Given the description of an element on the screen output the (x, y) to click on. 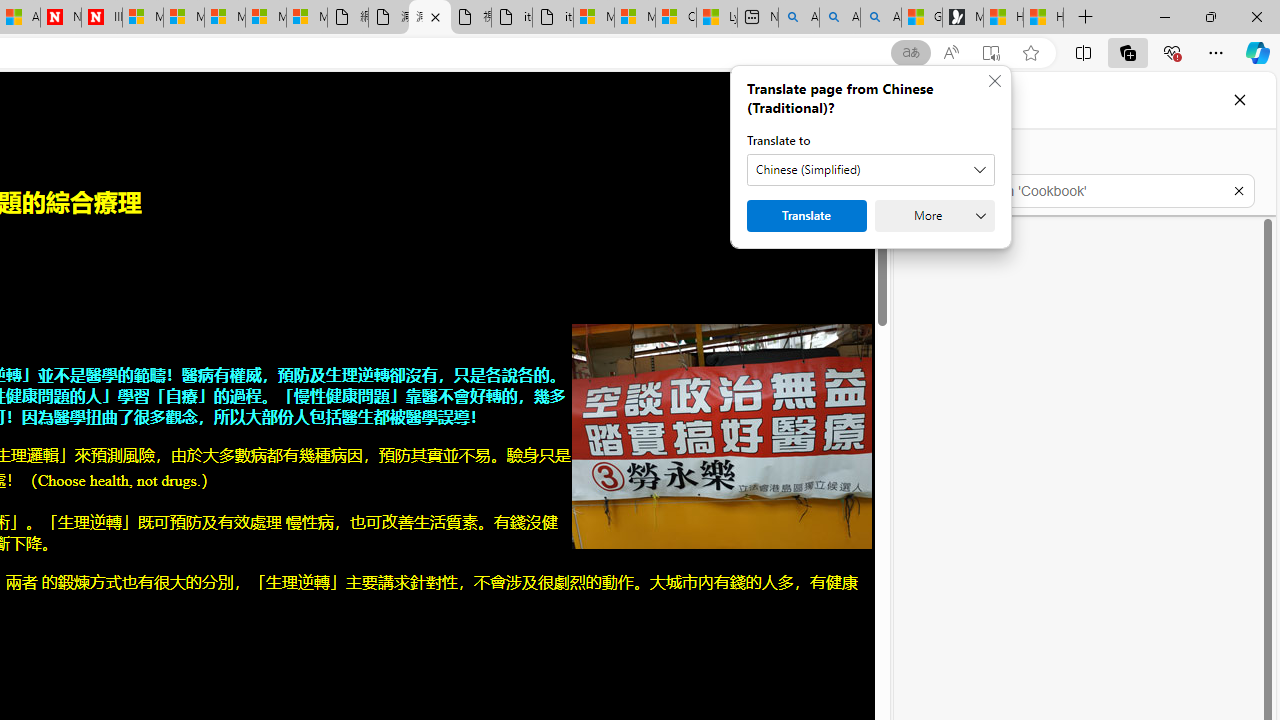
Alabama high school quarterback dies - Search (799, 17)
Translate to (870, 169)
Translate (806, 215)
Consumer Health Data Privacy Policy (675, 17)
